Given the description of an element on the screen output the (x, y) to click on. 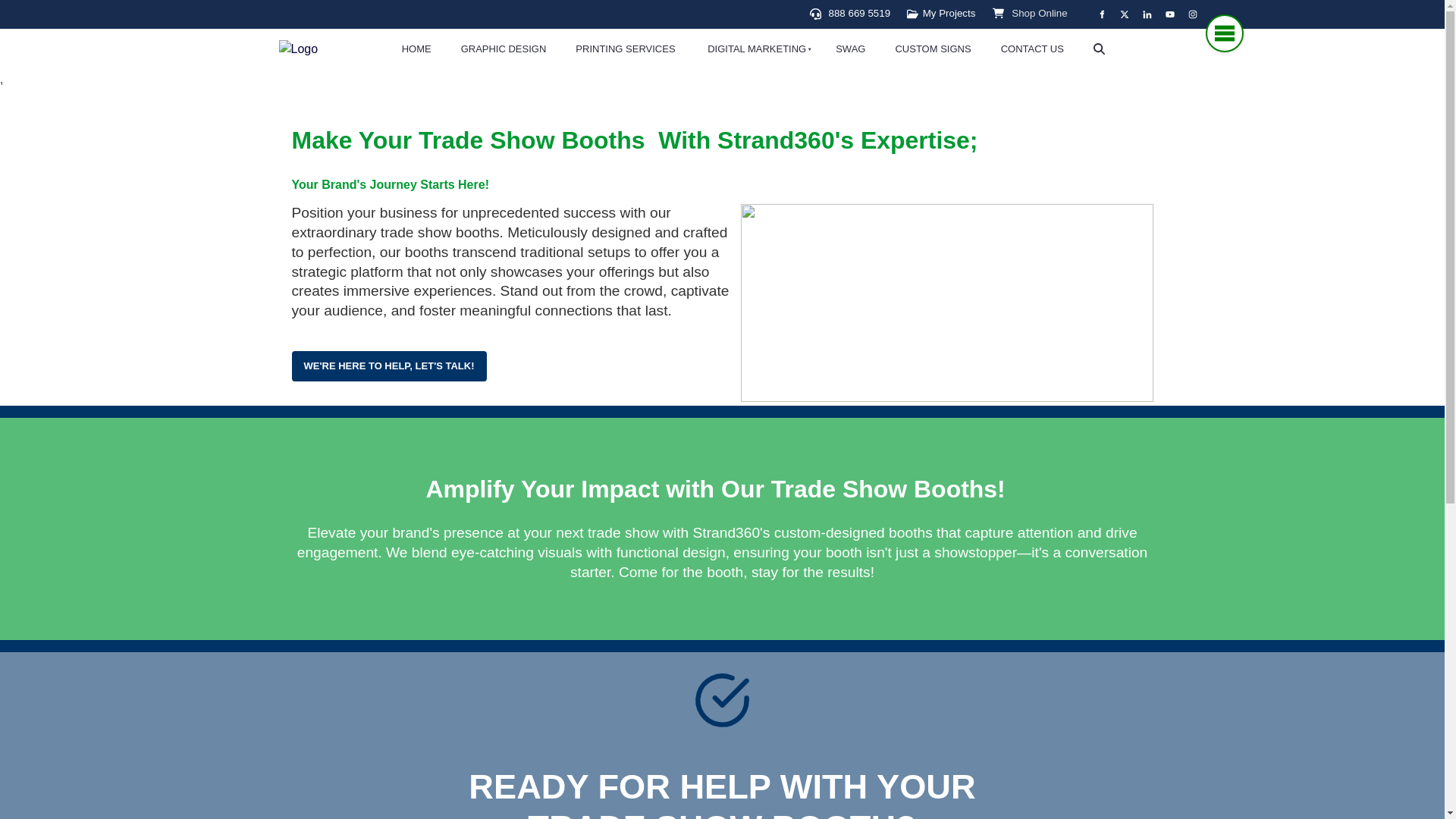
CONTACT US (1031, 49)
Youtube (1169, 14)
GRAPHIC DESIGN (502, 49)
DIGITAL MARKETING (755, 49)
Instagram (1193, 14)
Shop Online (1039, 12)
Facebook (1101, 14)
LinkedIn (1147, 14)
SWAG (850, 49)
PRINTING SERVICES (625, 49)
CUSTOM SIGNS (932, 49)
HOME (416, 49)
